Given the description of an element on the screen output the (x, y) to click on. 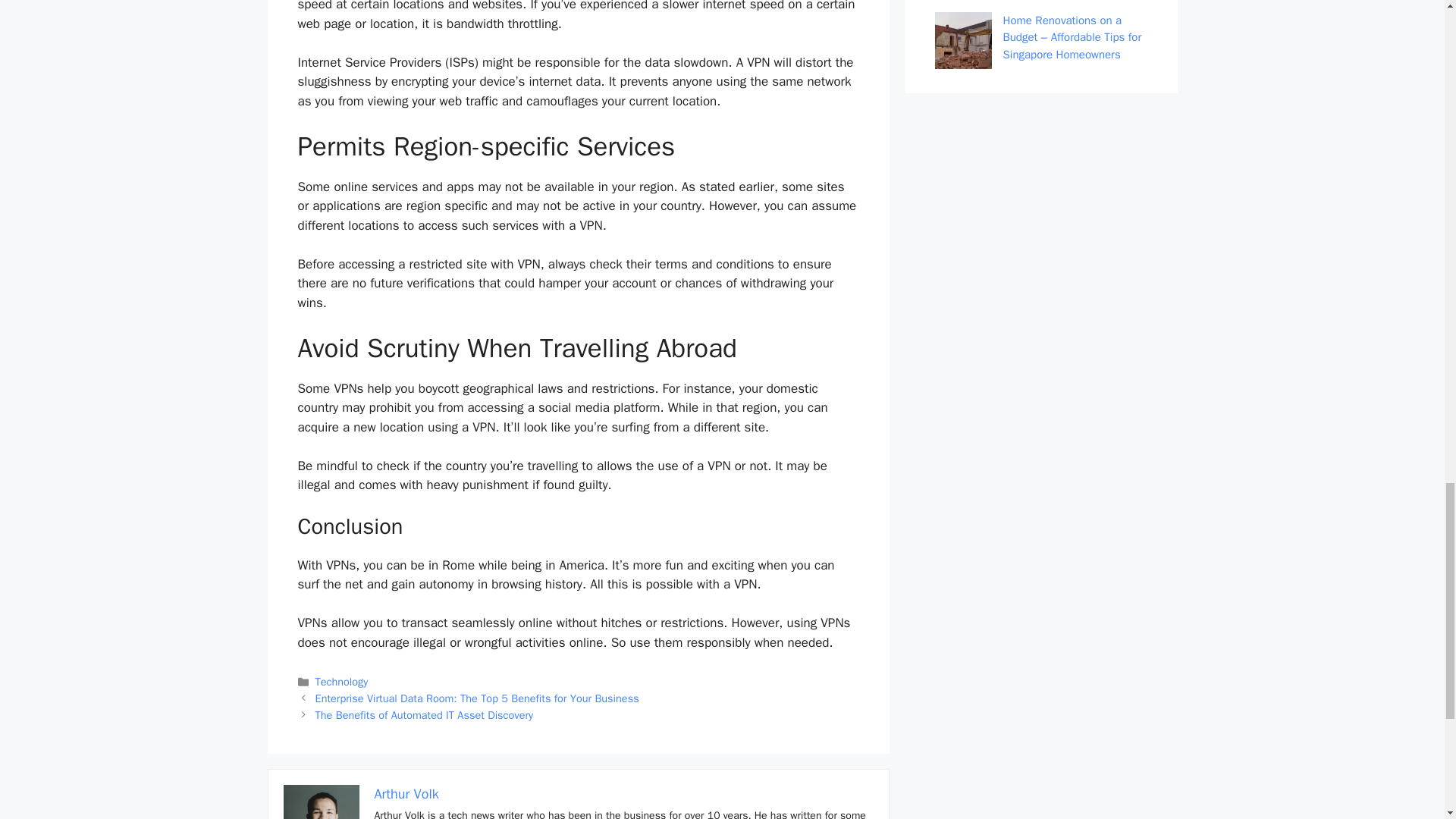
Arthur Volk (406, 793)
Next (424, 714)
Technology (341, 681)
Previous (477, 698)
The Benefits of Automated IT Asset Discovery (424, 714)
